Given the description of an element on the screen output the (x, y) to click on. 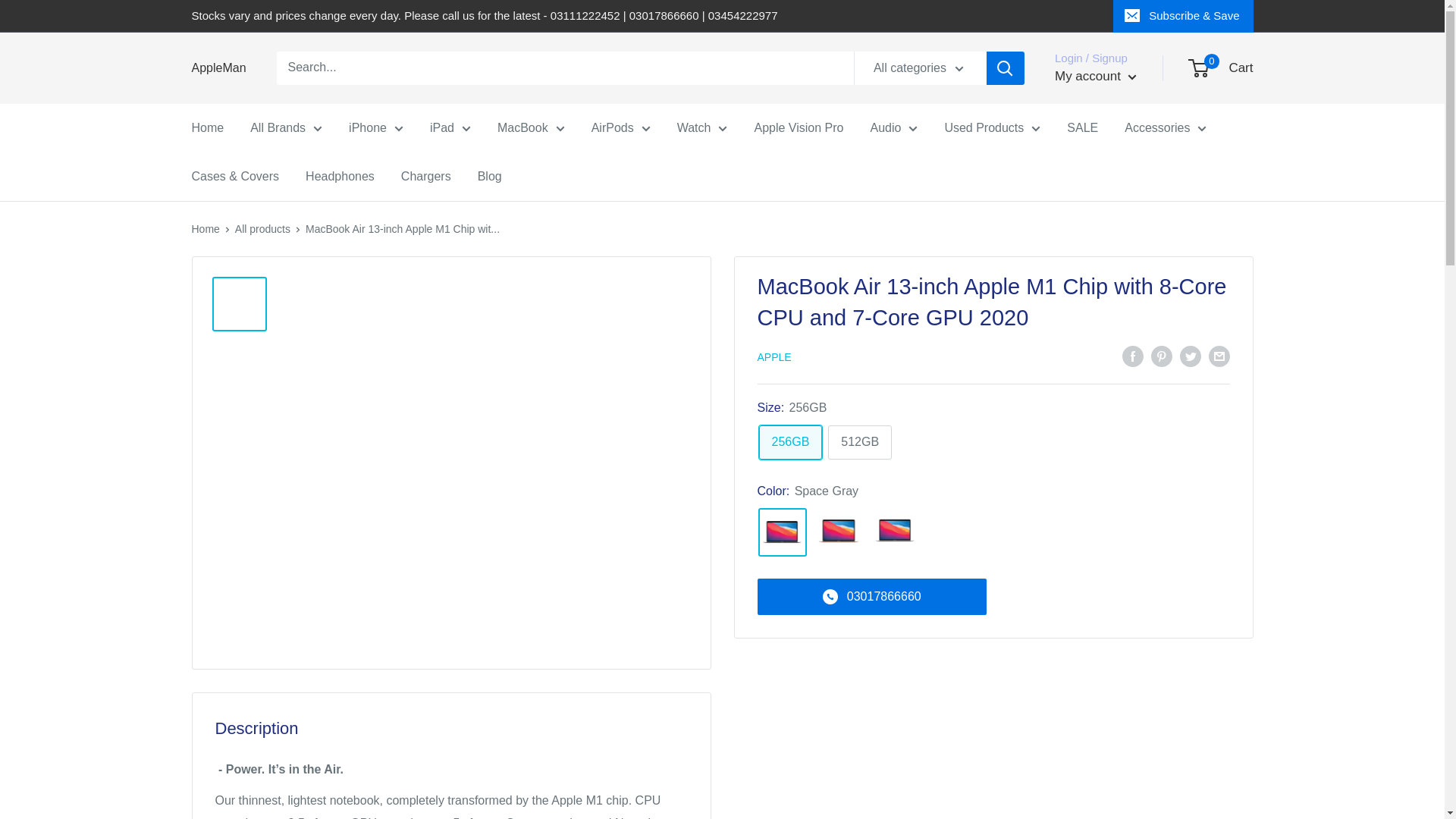
512GB (859, 442)
Gold (838, 531)
256GB (790, 442)
Space Gray (782, 531)
Silver (894, 531)
